Given the description of an element on the screen output the (x, y) to click on. 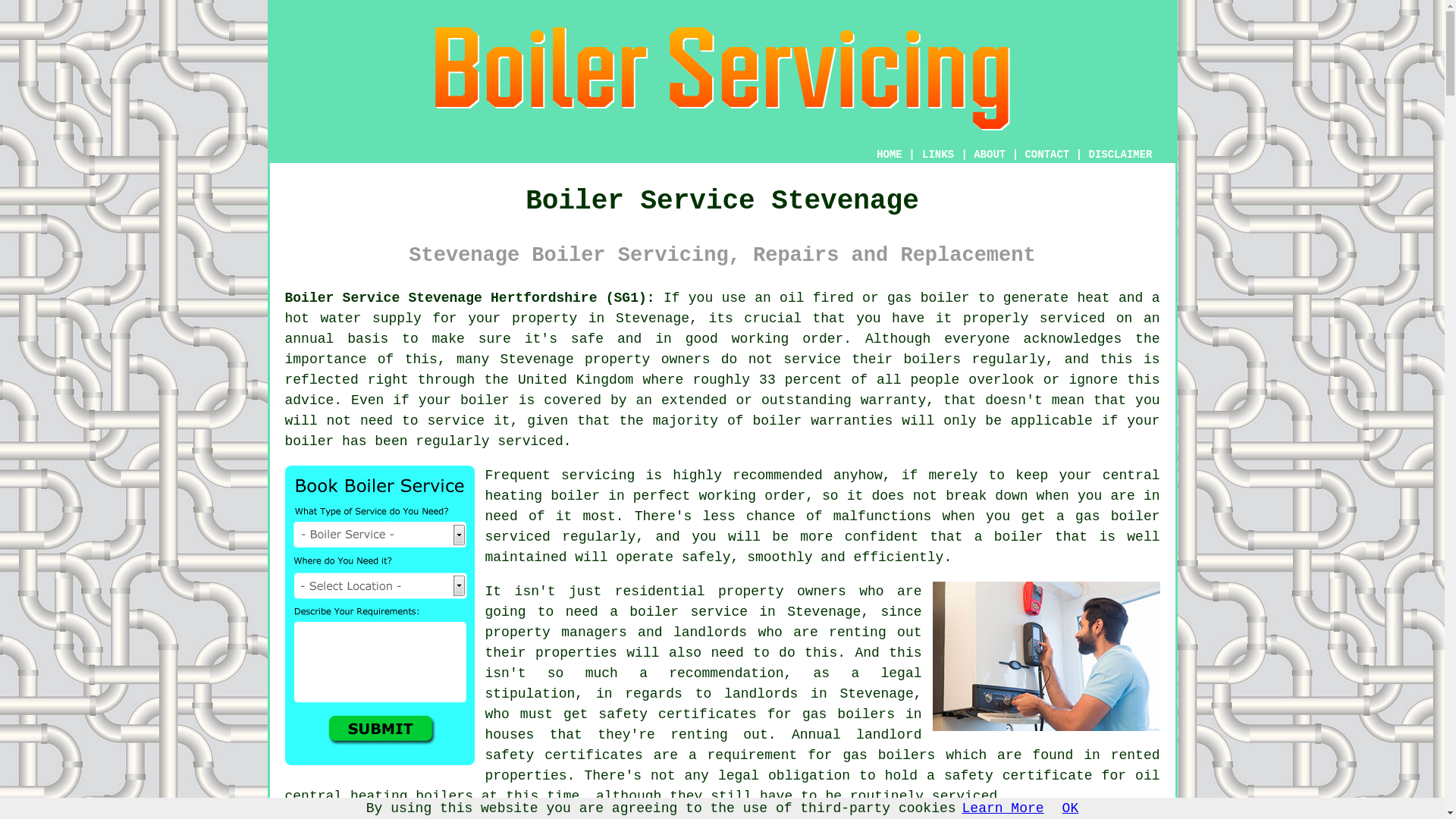
serviced (517, 536)
LINKS (938, 154)
HOME (889, 154)
boiler (944, 297)
servicing (597, 475)
gas boilers (889, 754)
